Given the description of an element on the screen output the (x, y) to click on. 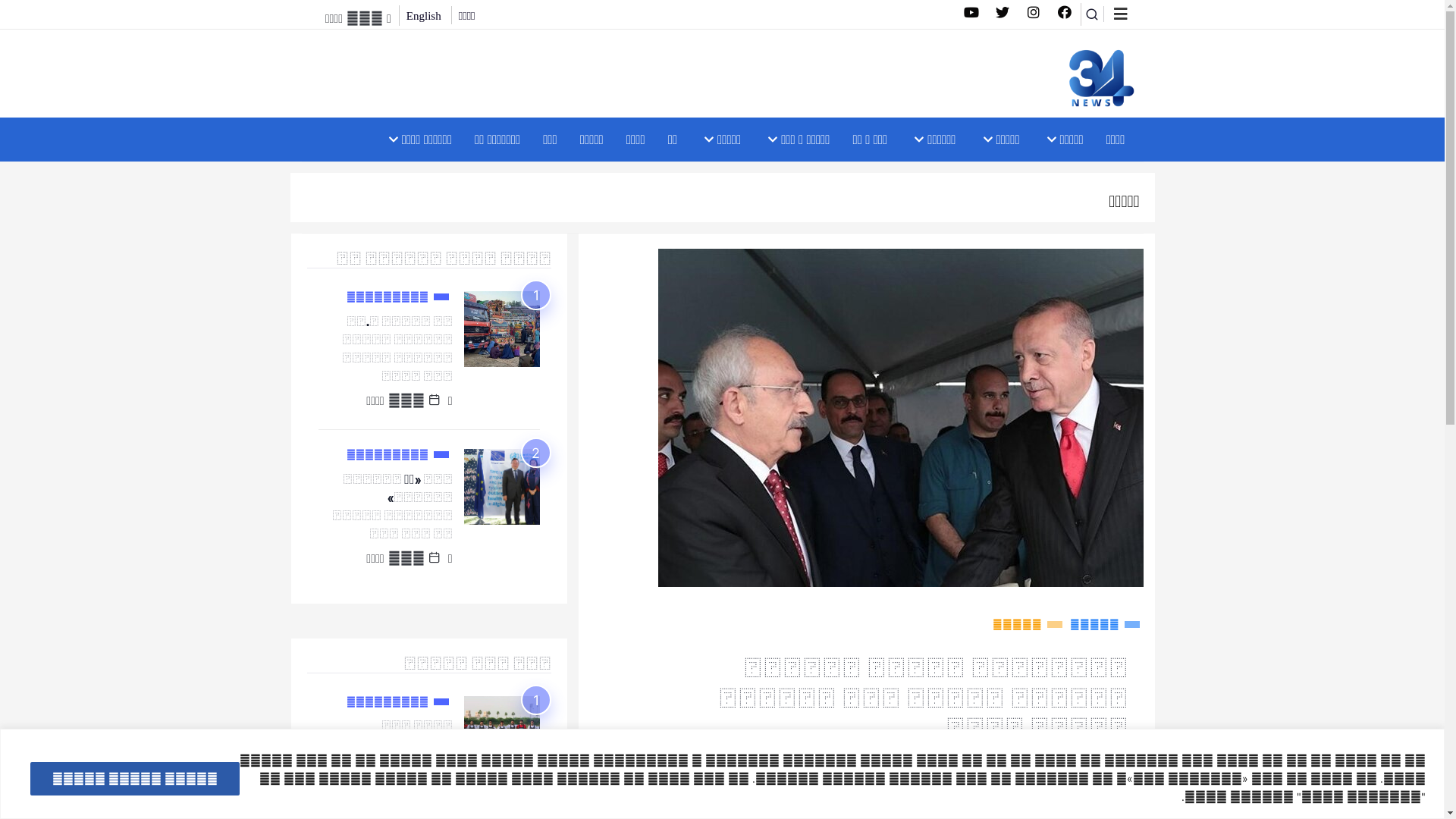
English Element type: text (423, 15)
